Given the description of an element on the screen output the (x, y) to click on. 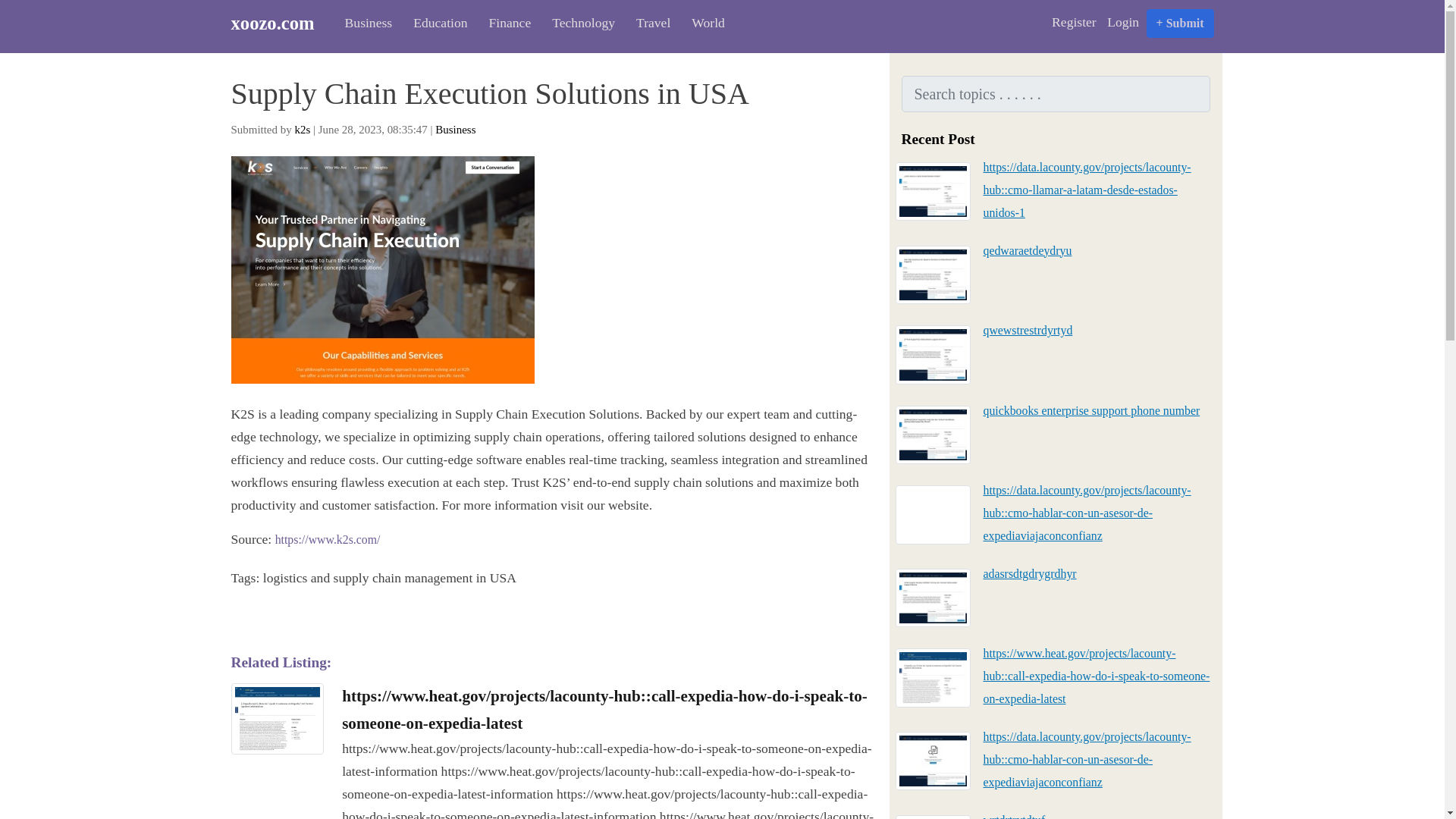
Travel (649, 22)
Login (1122, 21)
Technology (579, 22)
Technology (579, 22)
k2s (302, 129)
Register (1074, 21)
Travel (649, 22)
Business (455, 129)
xoozo.com (279, 23)
Finance (505, 22)
